Given the description of an element on the screen output the (x, y) to click on. 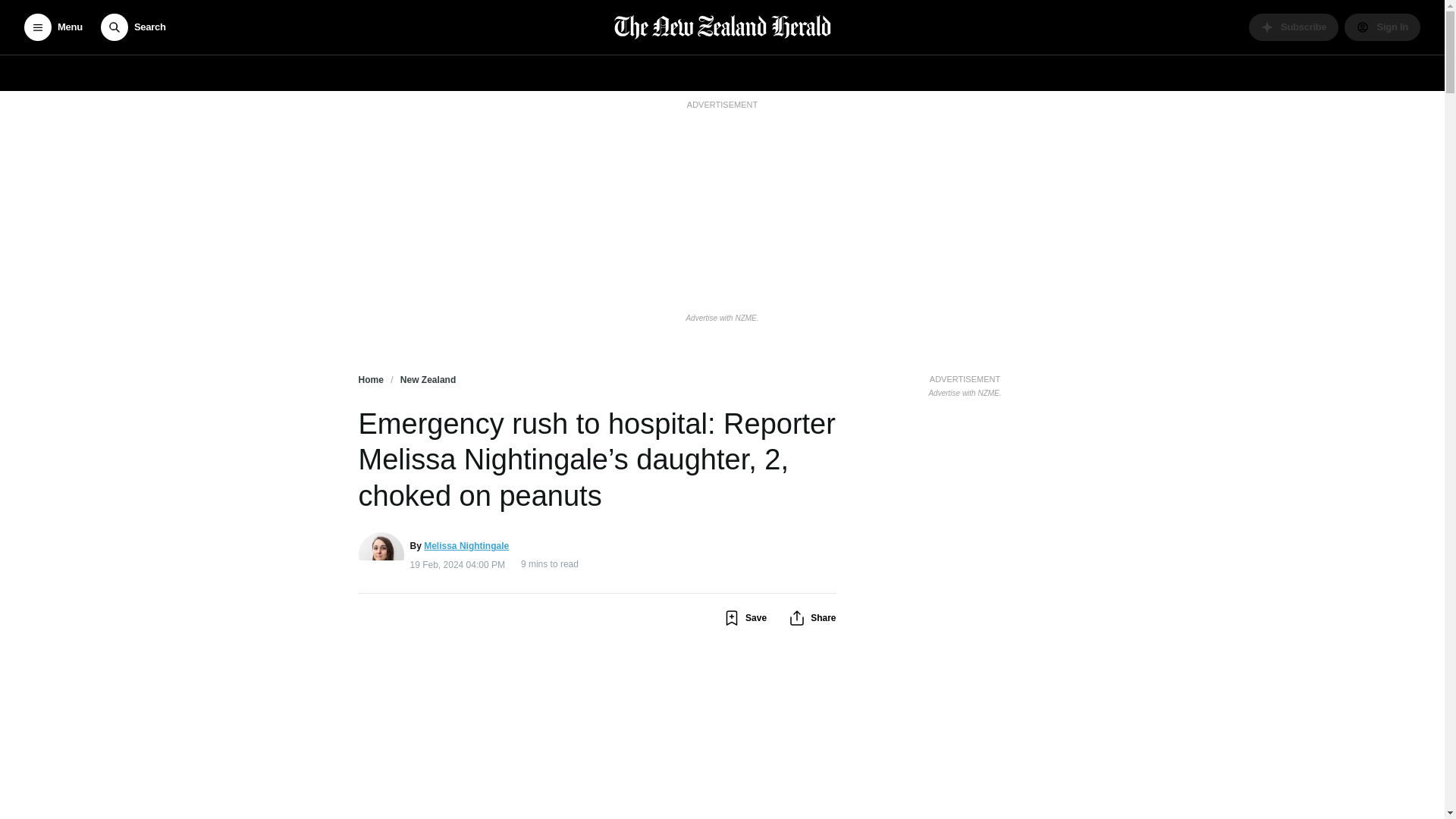
Search (132, 26)
Sign In (1382, 26)
Menu (53, 26)
Subscribe (1294, 26)
Manage your account (1382, 26)
